Given the description of an element on the screen output the (x, y) to click on. 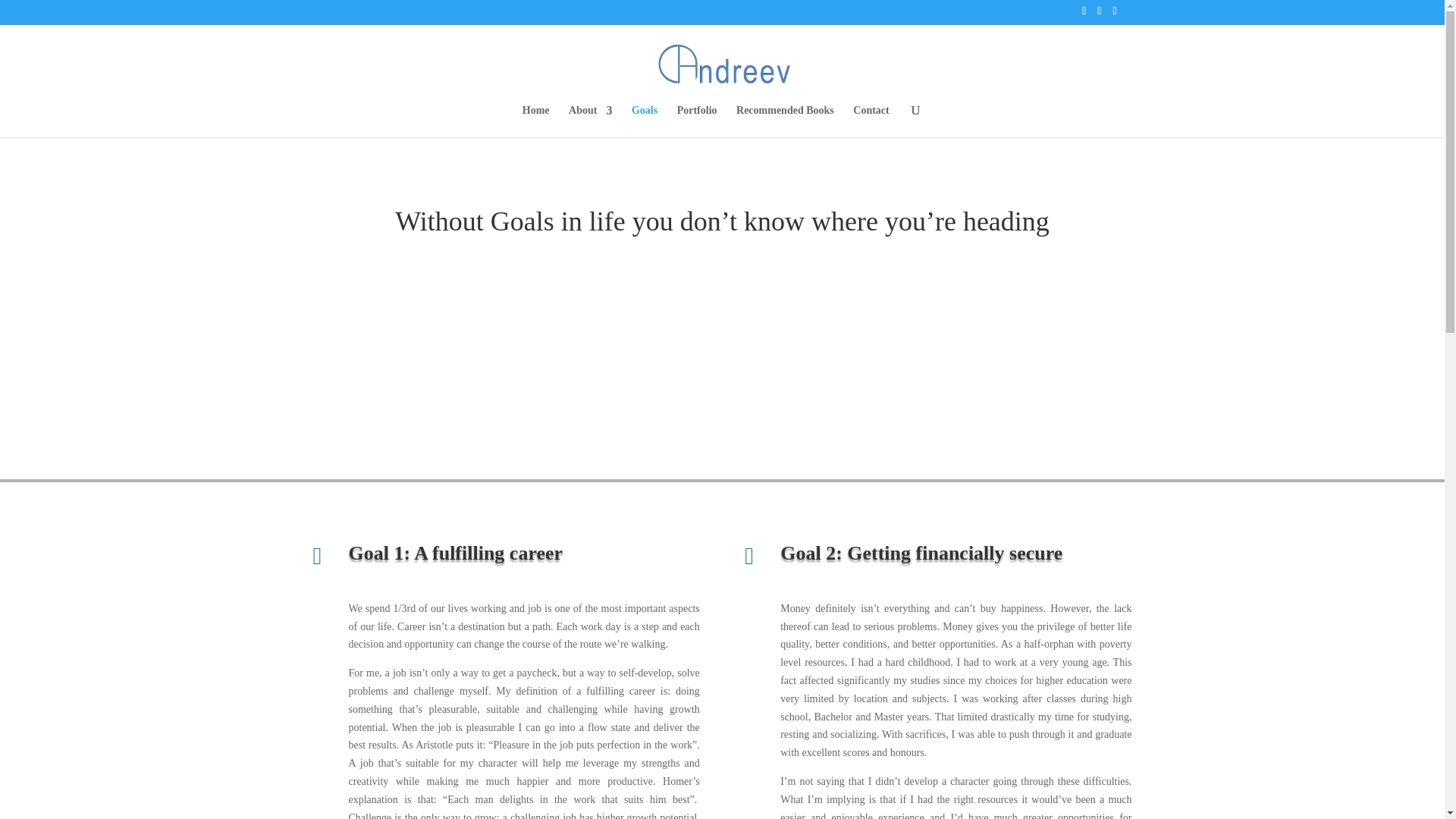
Recommended Books (785, 121)
About (590, 121)
Portfolio (697, 121)
Contact (870, 121)
